Given the description of an element on the screen output the (x, y) to click on. 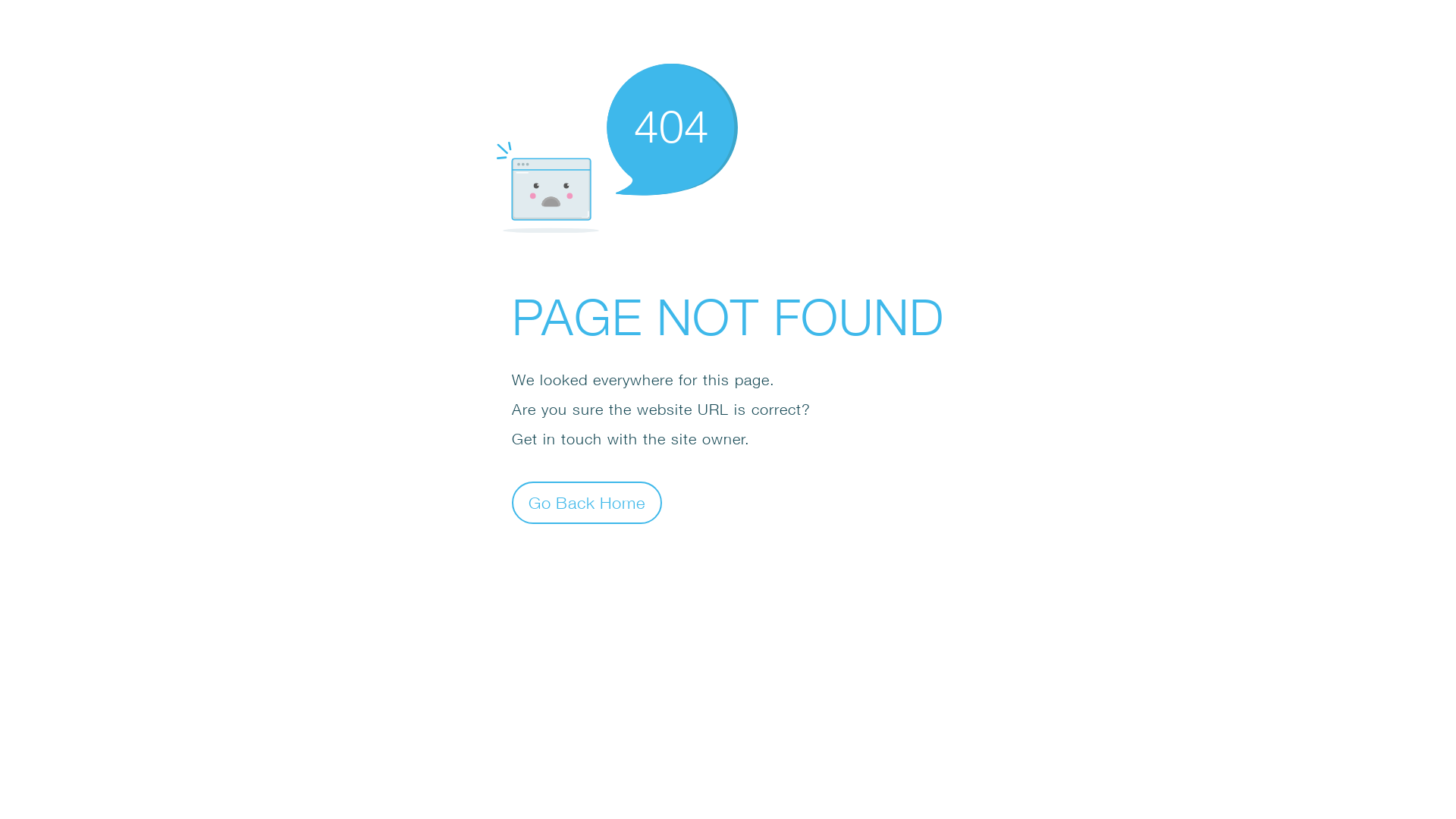
Go Back Home Element type: text (586, 502)
